Given the description of an element on the screen output the (x, y) to click on. 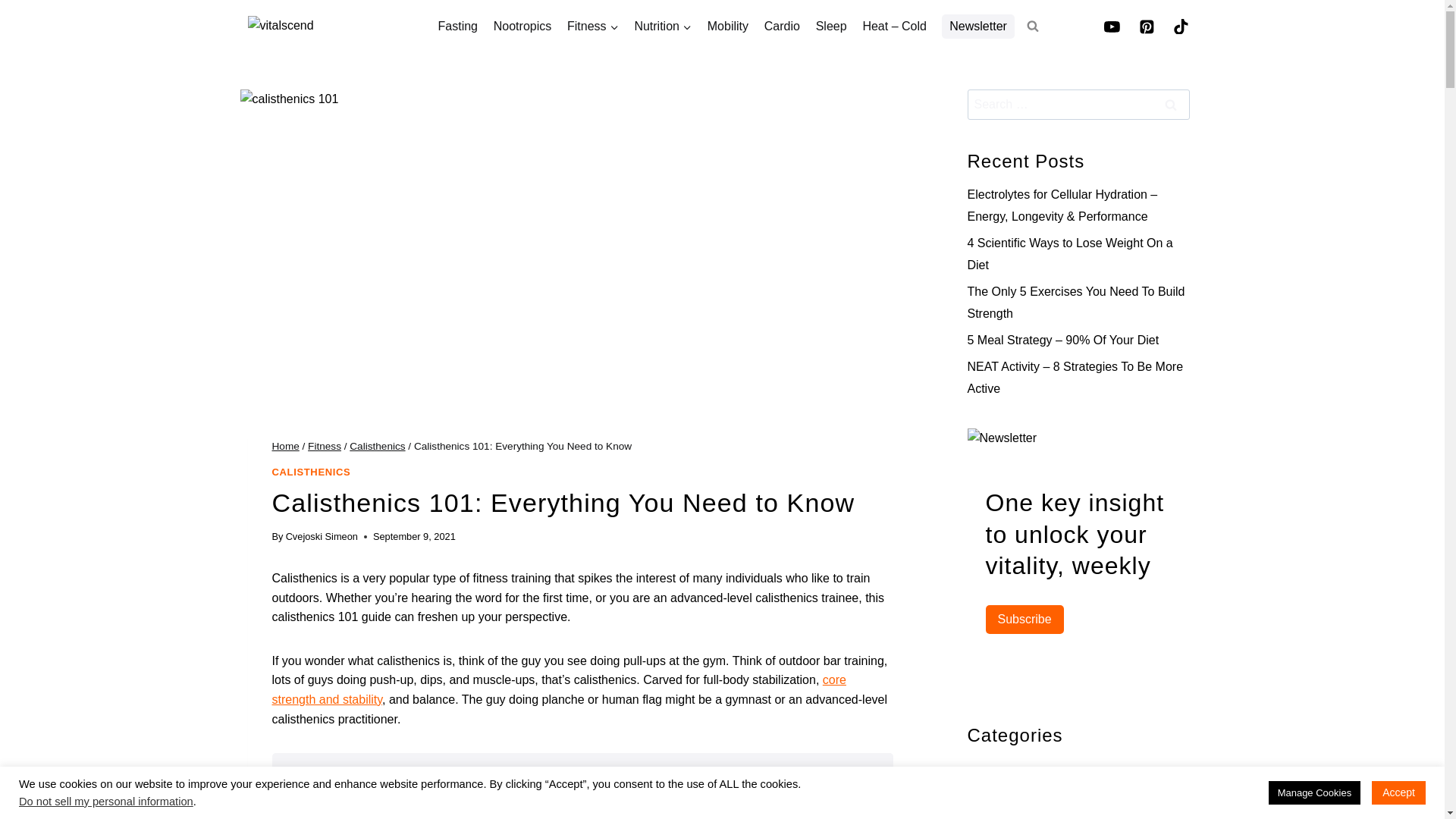
Search (1170, 104)
Fasting (456, 26)
Fitness (592, 26)
Fitness (323, 446)
Sleep (831, 26)
Cvejoski Simeon (321, 536)
core strength and stability (557, 689)
Search (1170, 104)
Newsletter (978, 26)
Cardio (781, 26)
Calisthenics (376, 446)
CALISTHENICS (310, 471)
Nootropics (521, 26)
Home (284, 446)
Mobility (726, 26)
